Given the description of an element on the screen output the (x, y) to click on. 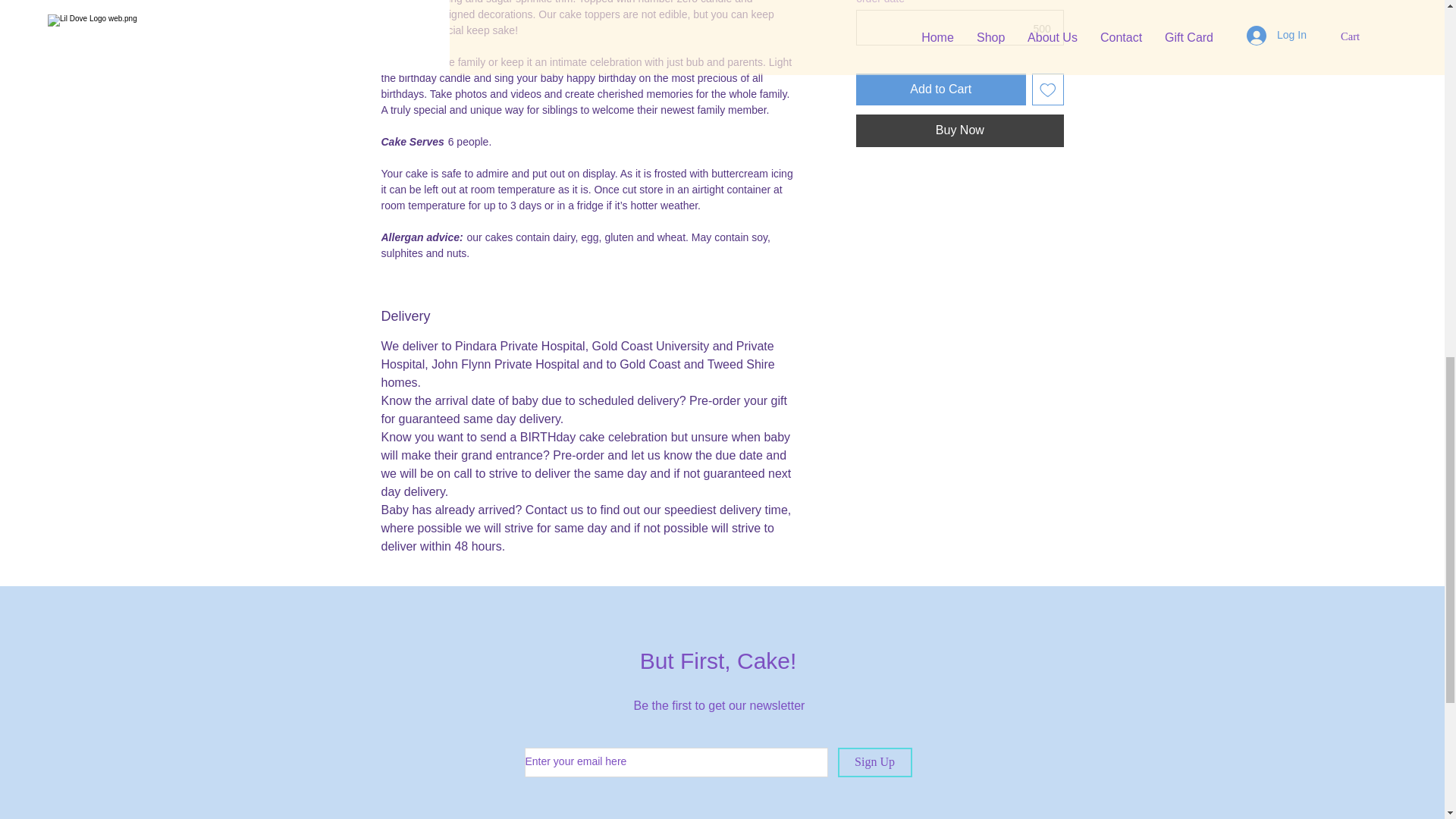
Buy Now (959, 130)
Sign Up (874, 762)
Add to Cart (940, 89)
